Given the description of an element on the screen output the (x, y) to click on. 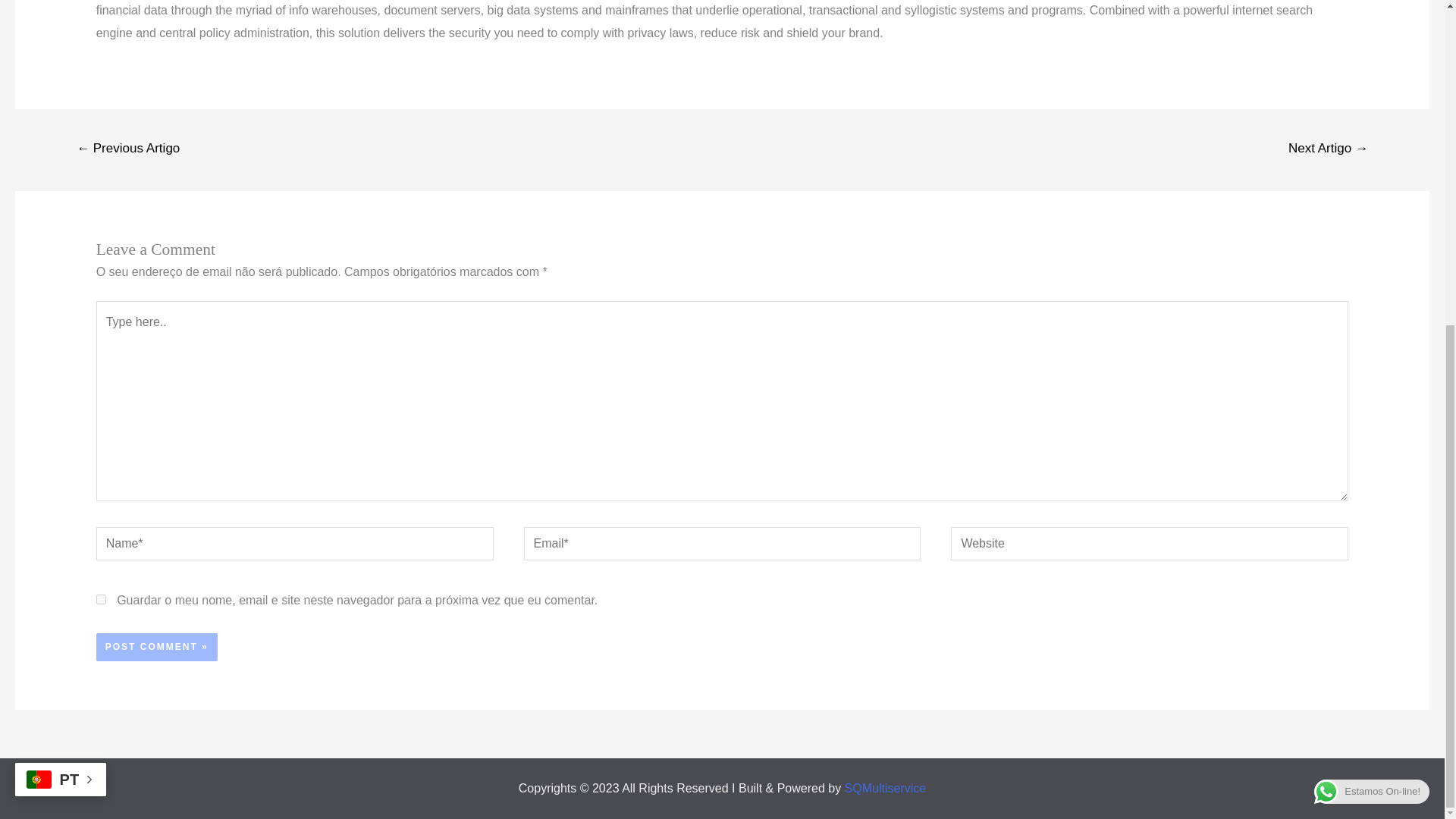
SQMultiservice (885, 788)
yes (101, 599)
